Given the description of an element on the screen output the (x, y) to click on. 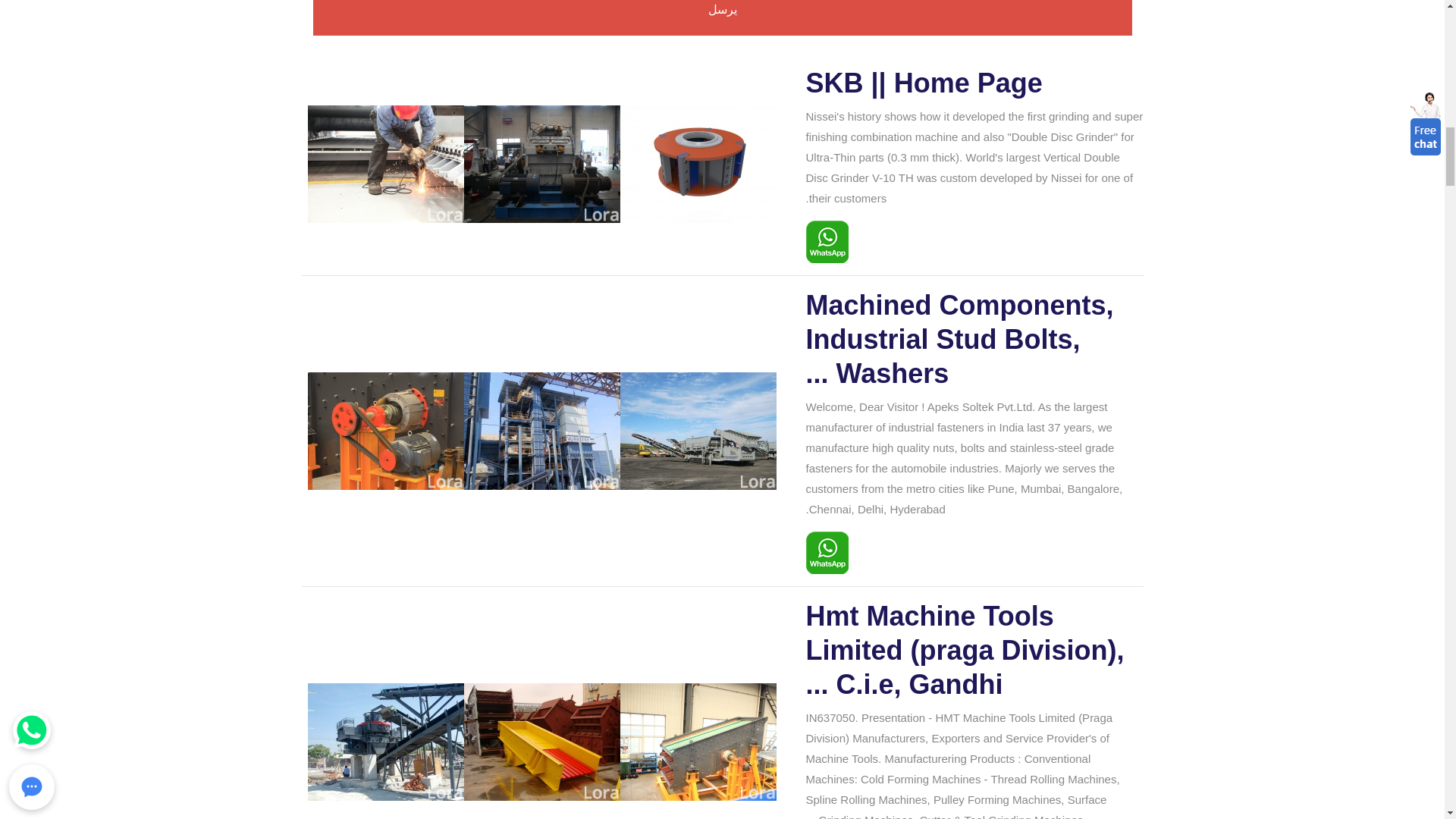
Machined Components, Industrial Stud Bolts, Washers ... (973, 339)
